Given the description of an element on the screen output the (x, y) to click on. 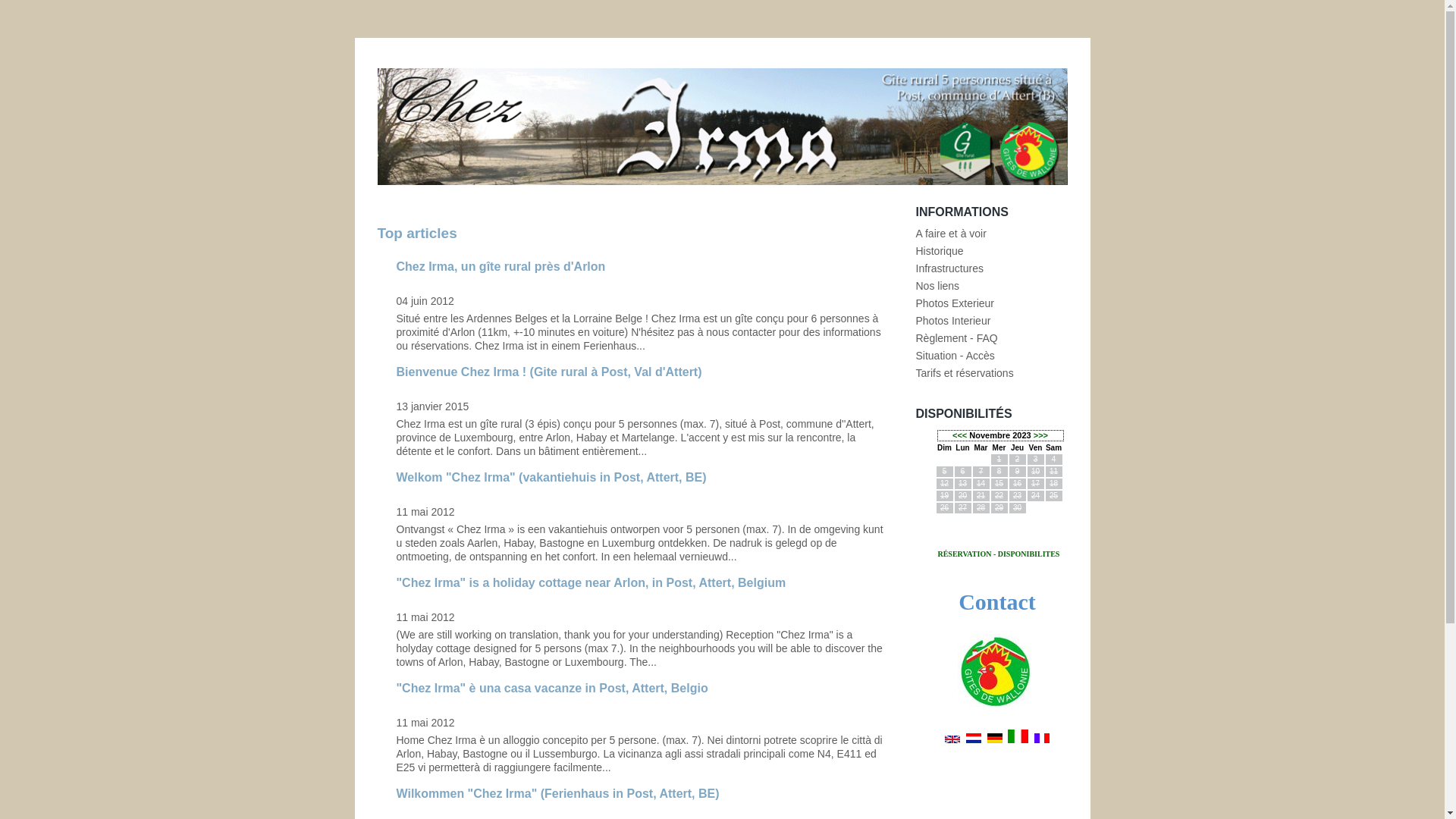
Welkom "Chez Irma" (vakantiehuis in Post, Attert, BE) Element type: text (550, 476)
Contact Element type: text (996, 601)
Photos Interieur Element type: text (953, 320)
Photos Exterieur Element type: text (955, 303)
Historique Element type: text (939, 250)
Infrastructures Element type: text (949, 268)
Wilkommen "Chez Irma" (Ferienhaus in Post, Attert, BE) Element type: text (556, 793)
Nos liens Element type: text (938, 285)
